Given the description of an element on the screen output the (x, y) to click on. 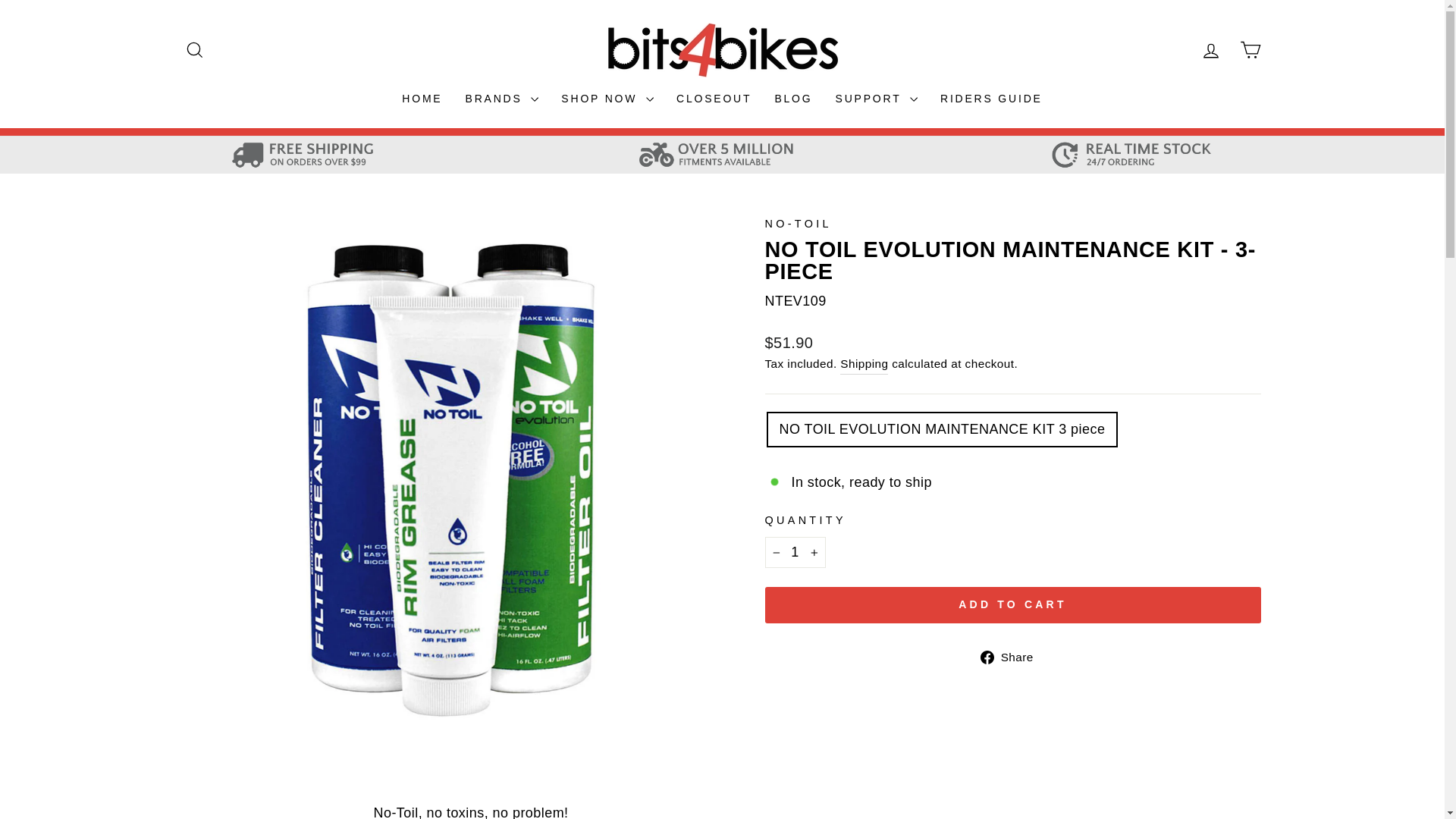
Share on Facebook (1012, 657)
ACCOUNT (1210, 50)
1 (794, 552)
ICON-SEARCH (194, 49)
